Given the description of an element on the screen output the (x, y) to click on. 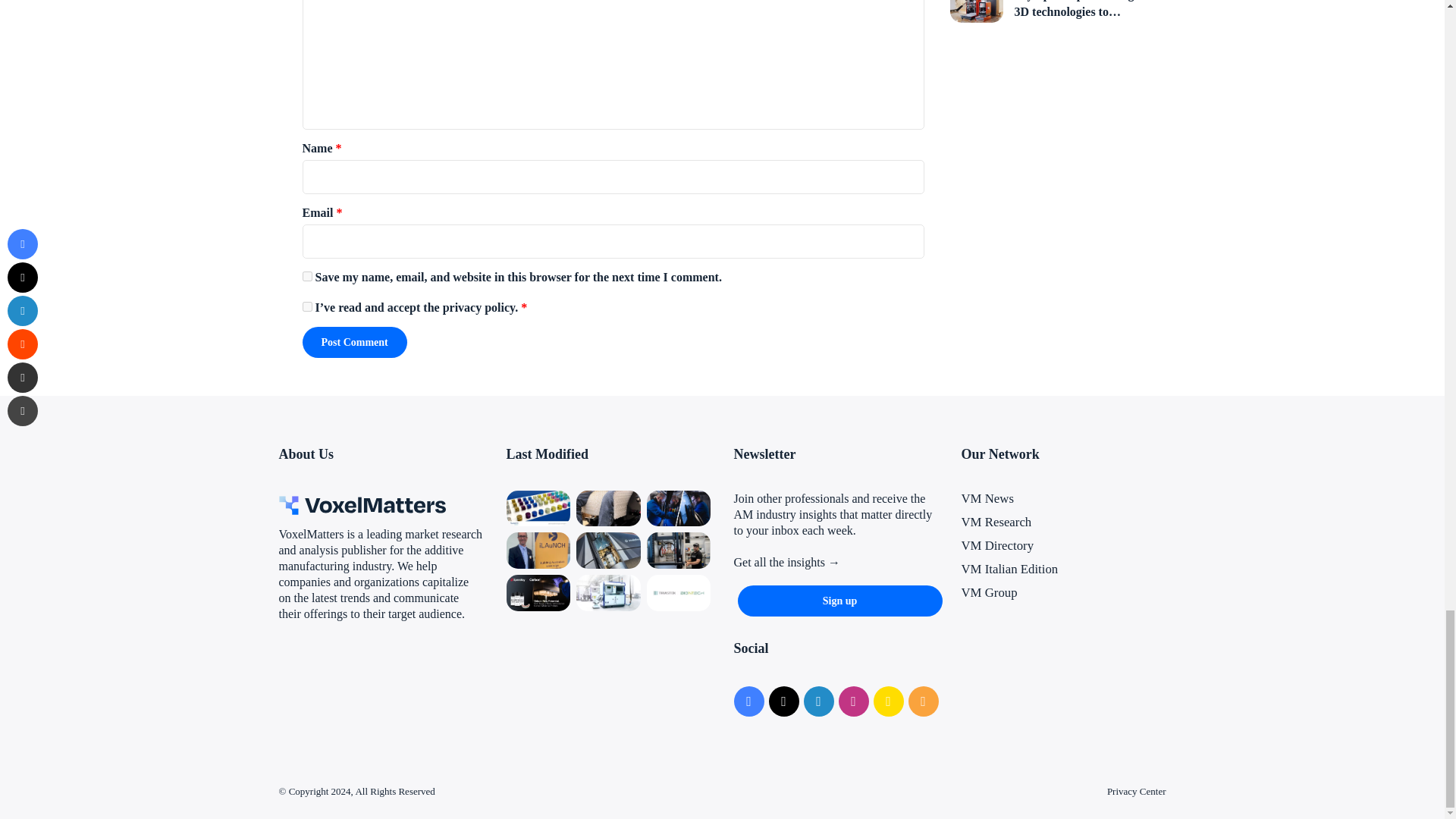
yes (306, 276)
Post Comment (353, 341)
on (306, 307)
Sign up (839, 600)
